Given the description of an element on the screen output the (x, y) to click on. 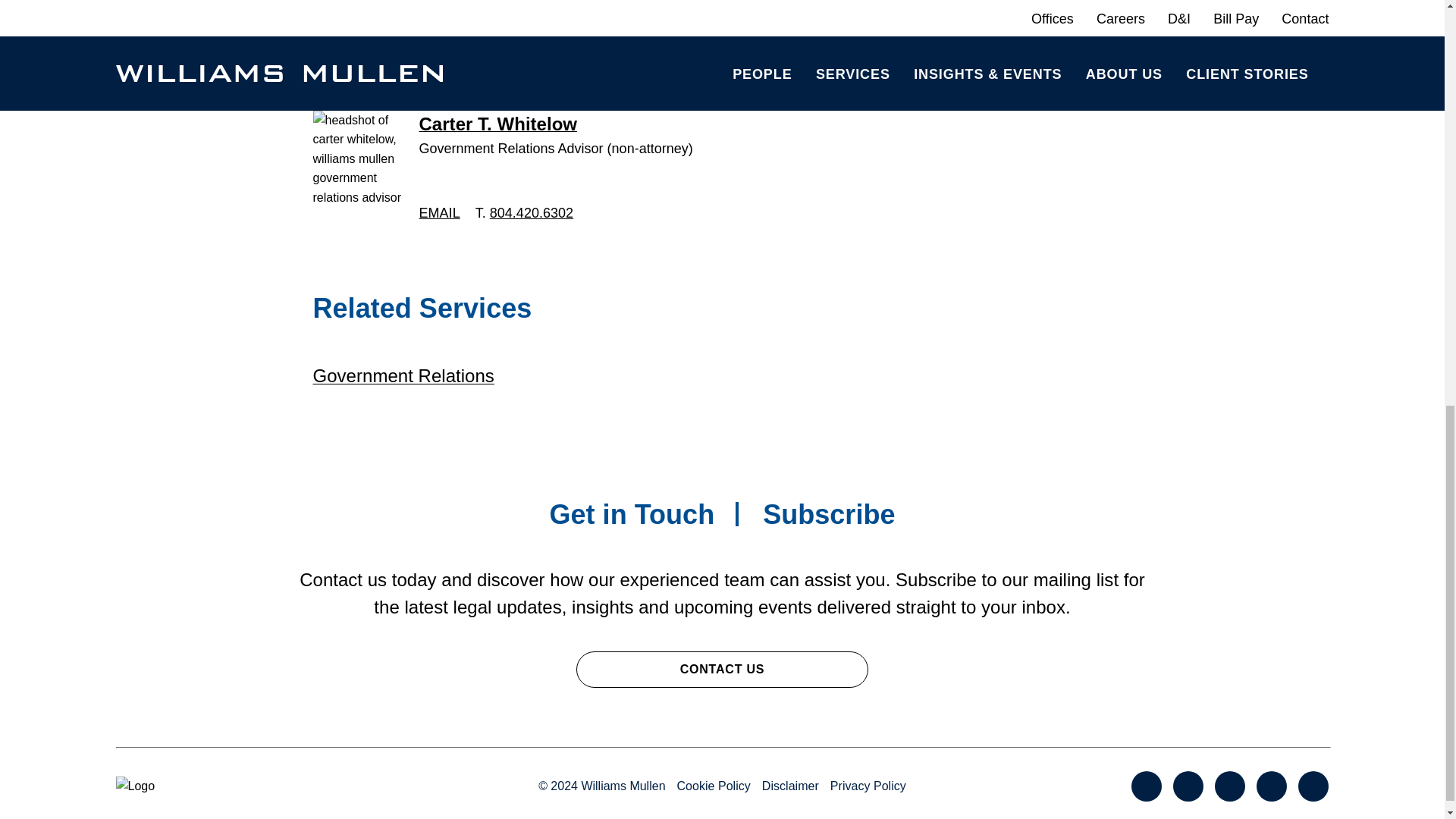
804.420.6302 (531, 212)
Subscribe (828, 513)
EMAIL (439, 212)
Get in Touch (631, 513)
Government Relations (403, 375)
Carter T. Whitelow (497, 123)
CONTACT US (721, 669)
